Given the description of an element on the screen output the (x, y) to click on. 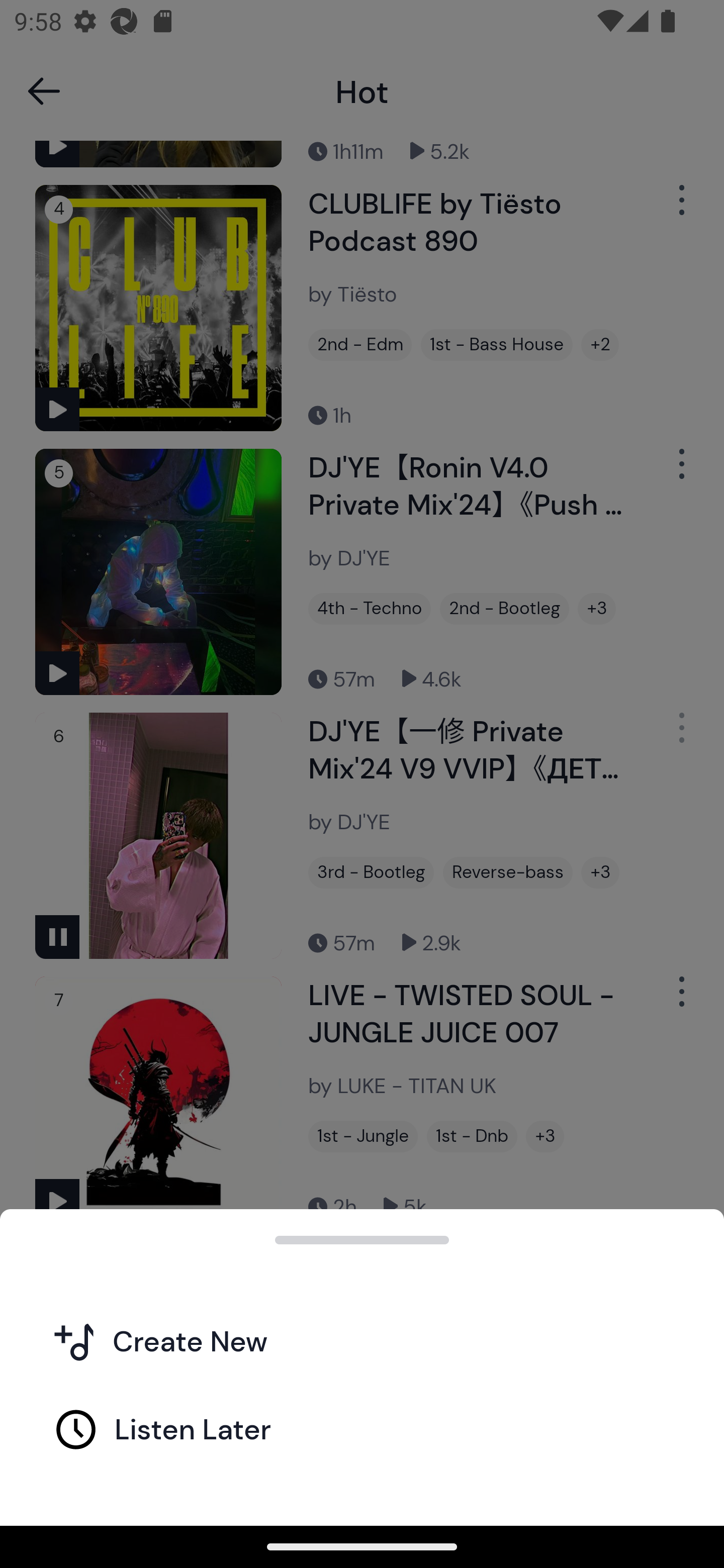
Create New (361, 1340)
Listen Later (361, 1428)
